Given the description of an element on the screen output the (x, y) to click on. 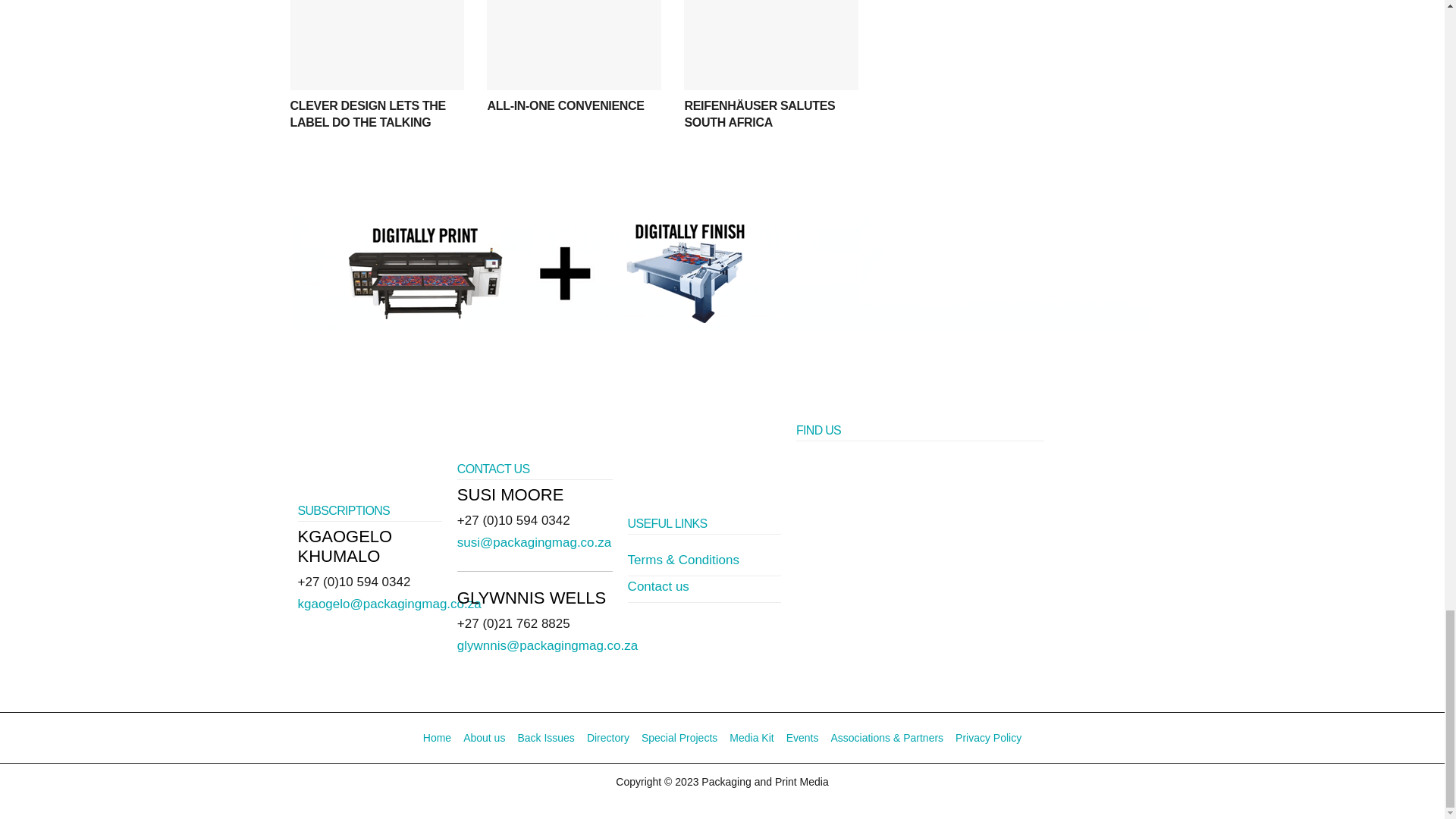
Fountain Grove 5 2nd Rd, Hyde Park, Johannesburg, 2194 (919, 575)
